Given the description of an element on the screen output the (x, y) to click on. 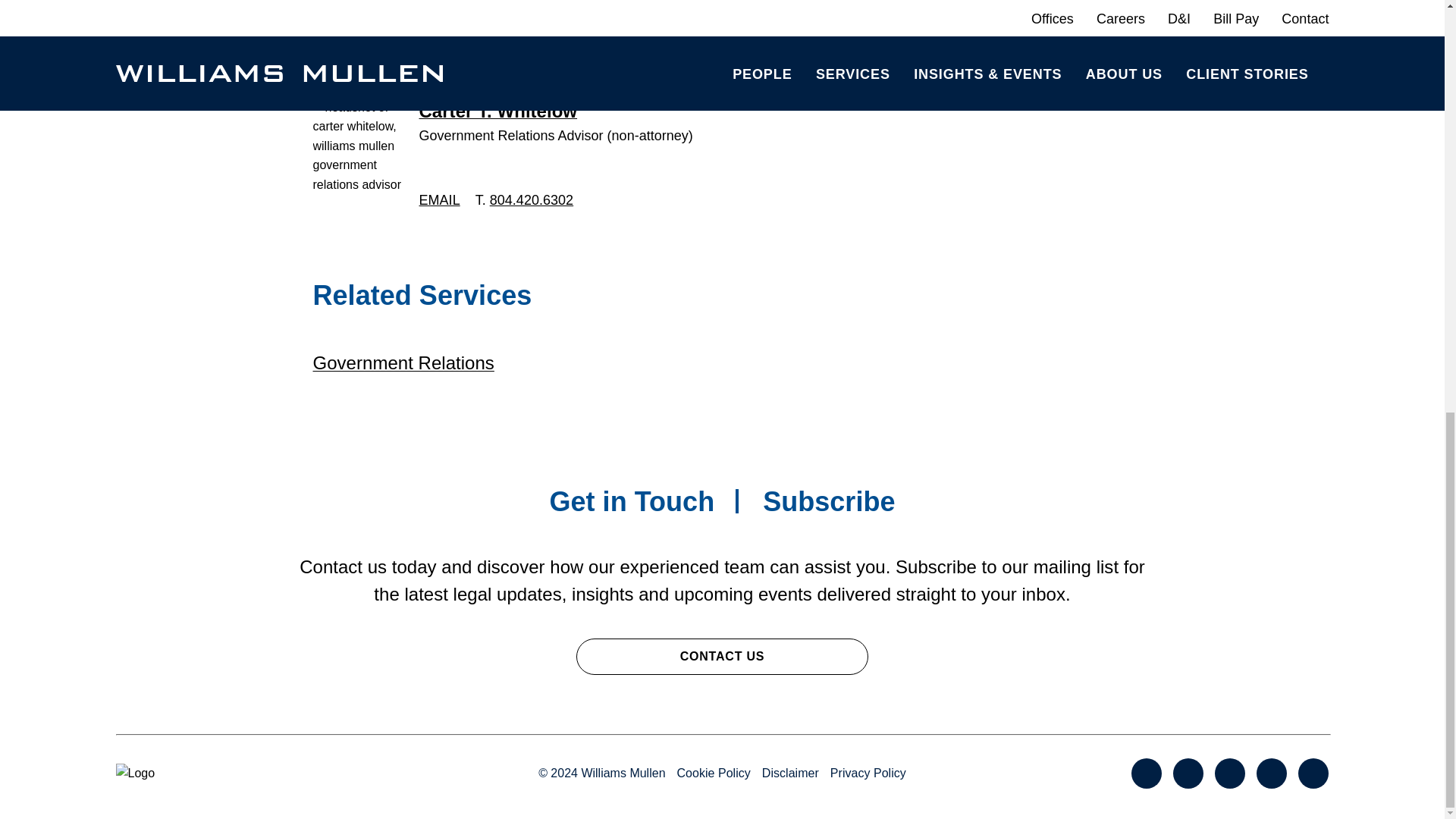
EMAIL (439, 200)
Carter T. Whitelow (497, 110)
804.420.6302 (531, 200)
CONTACT US (721, 656)
Subscribe (828, 501)
Get in Touch (631, 501)
Government Relations (403, 362)
